Given the description of an element on the screen output the (x, y) to click on. 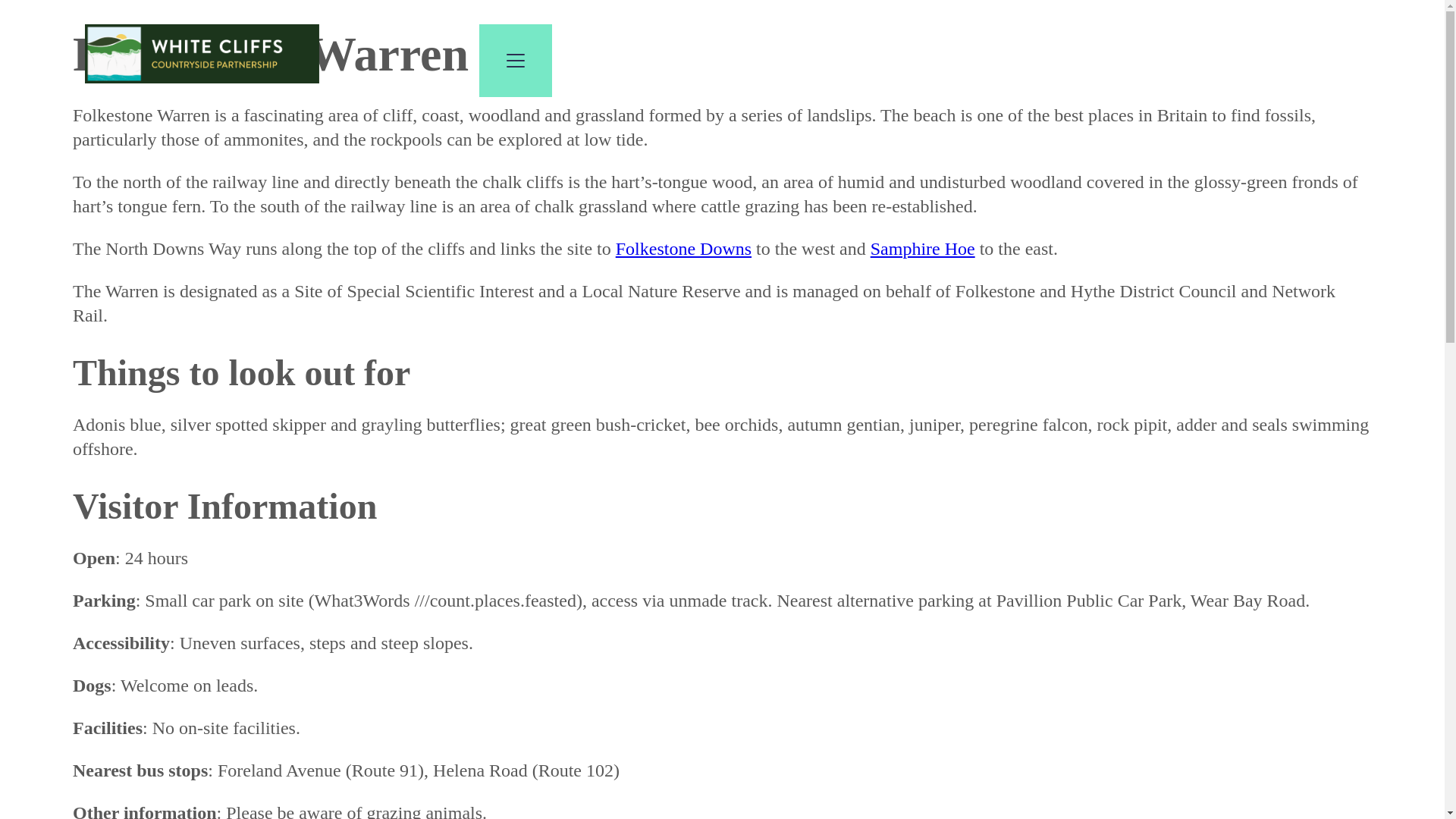
Home (210, 77)
samphire-hoe (922, 248)
Open menu (515, 60)
Samphire Hoe (922, 248)
folkestone-downs (683, 248)
Folkestone Downs (683, 248)
